Given the description of an element on the screen output the (x, y) to click on. 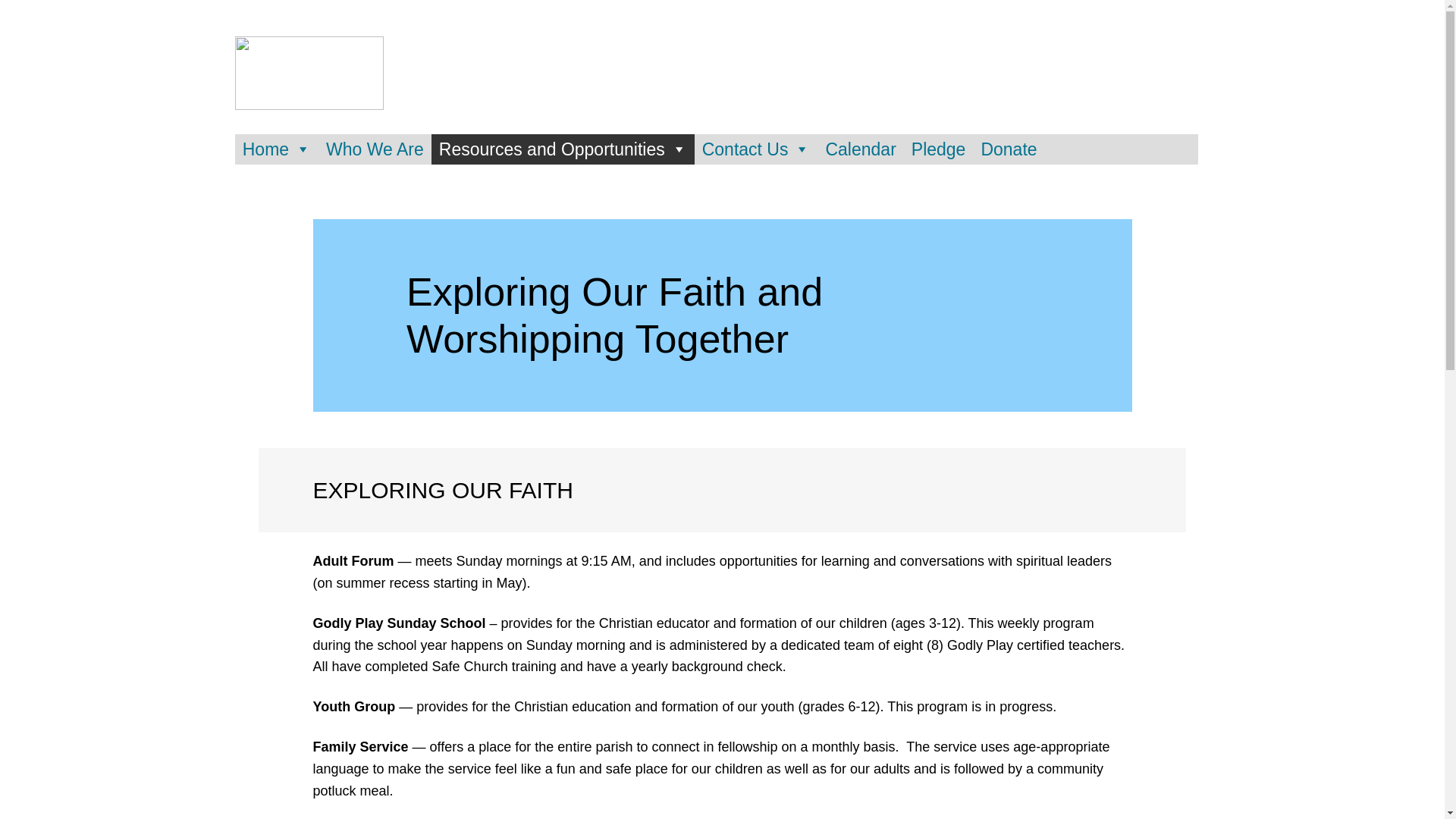
Calendar (859, 148)
Resources and Opportunities (562, 148)
Donate (1007, 148)
Pledge (939, 148)
Contact Us (756, 148)
Home (276, 148)
Who We Are (374, 148)
